Given the description of an element on the screen output the (x, y) to click on. 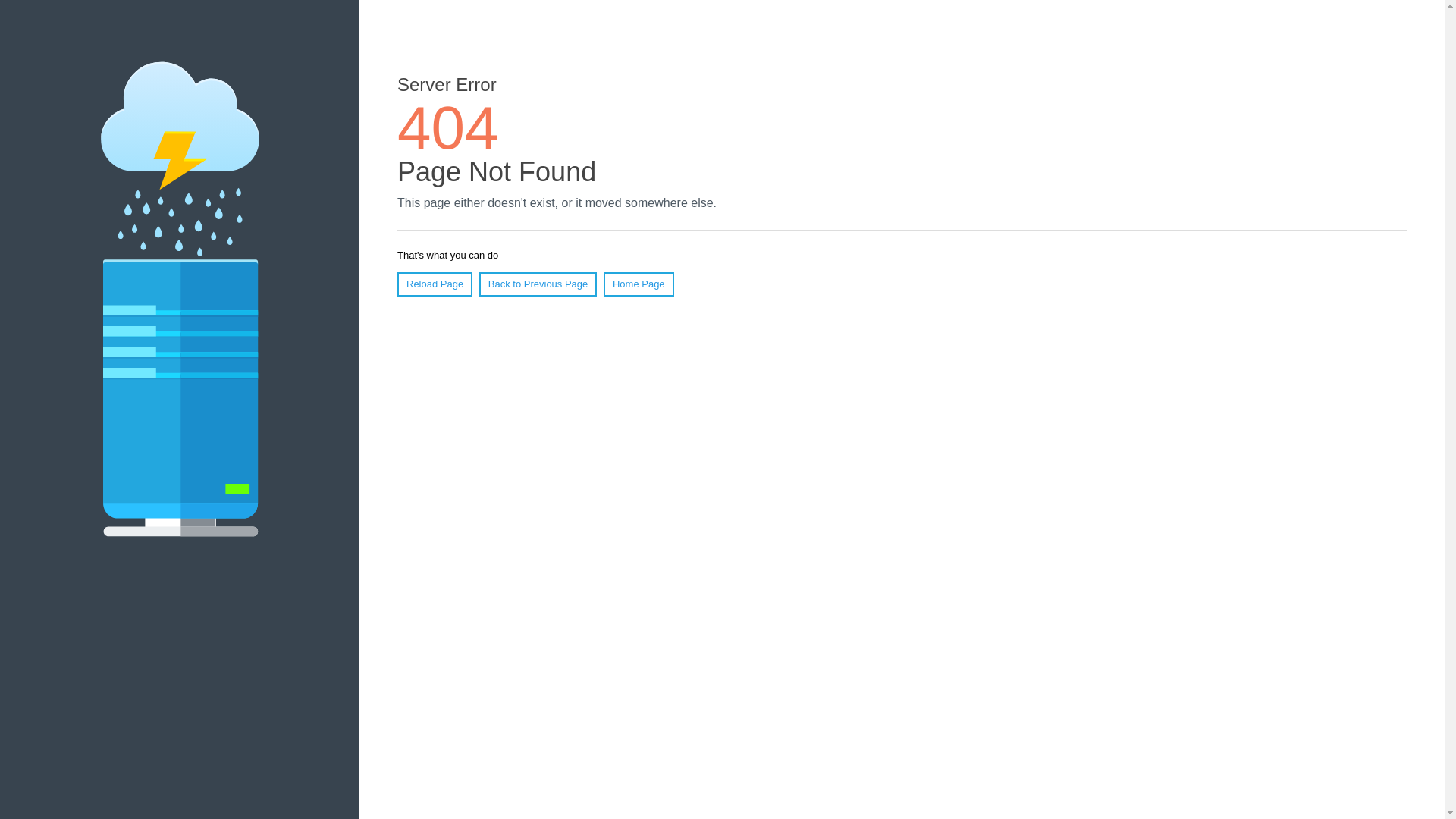
Home Page Element type: text (638, 284)
Back to Previous Page Element type: text (538, 284)
Reload Page Element type: text (434, 284)
